Given the description of an element on the screen output the (x, y) to click on. 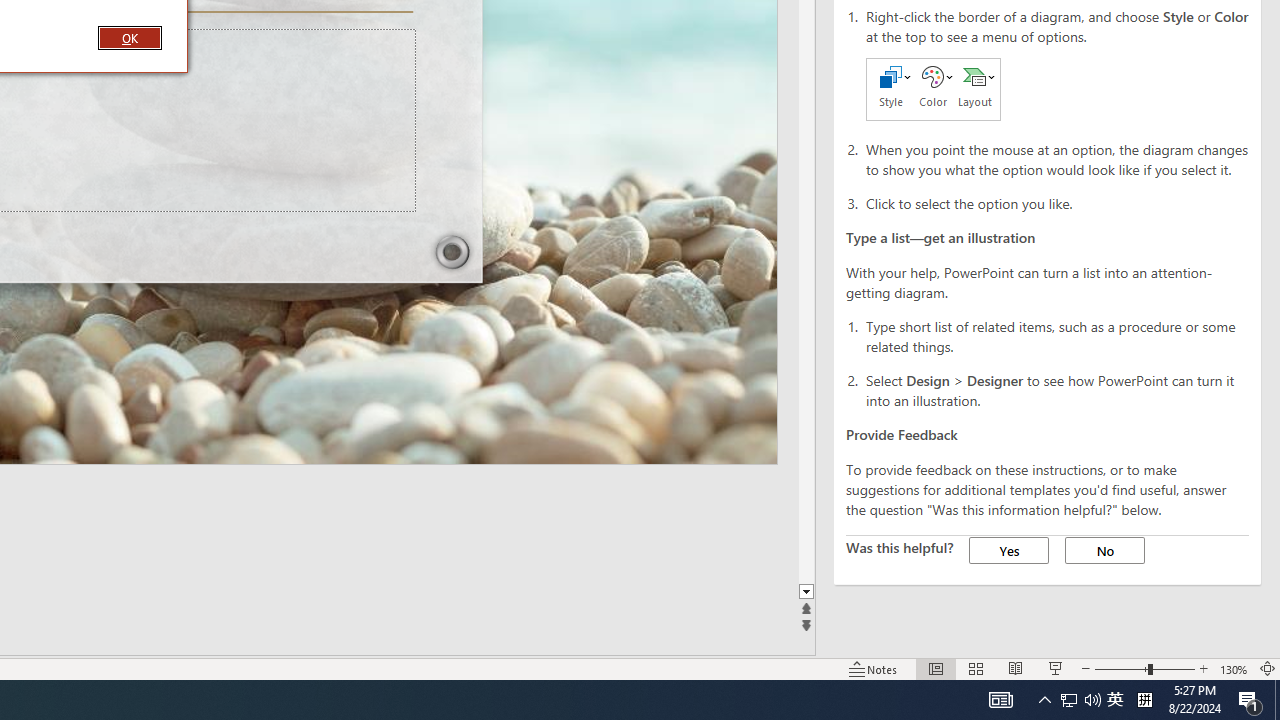
Yes (1008, 550)
